Given the description of an element on the screen output the (x, y) to click on. 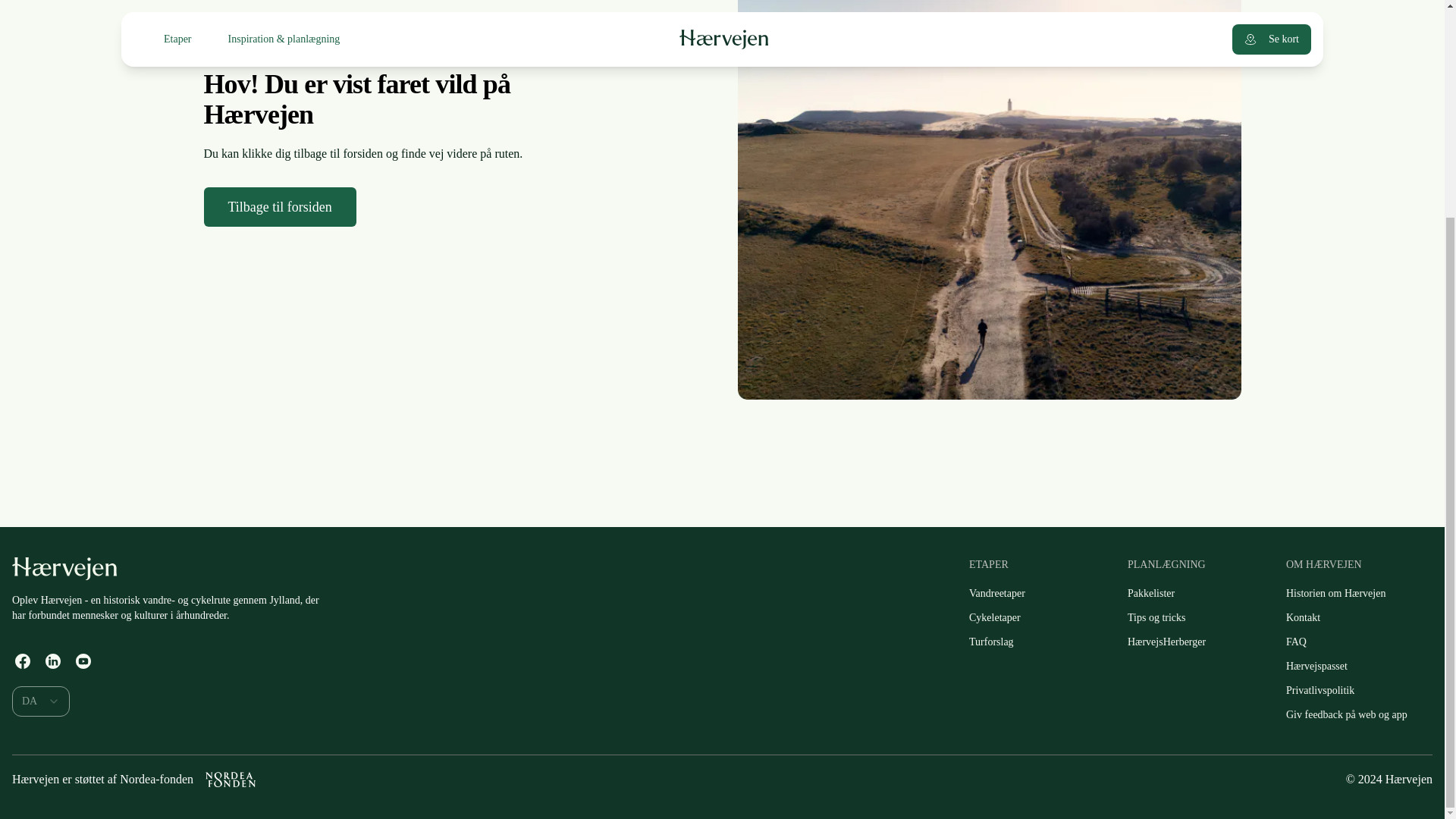
Kontakt (1302, 618)
DA (40, 701)
Tilbage til forsiden (279, 206)
Tips og tricks (1156, 618)
Pakkelister (1150, 593)
Vandreetaper (996, 593)
Cykeletaper (994, 618)
Turforslag (991, 642)
Privatlivspolitik (1319, 690)
FAQ (1296, 642)
